Given the description of an element on the screen output the (x, y) to click on. 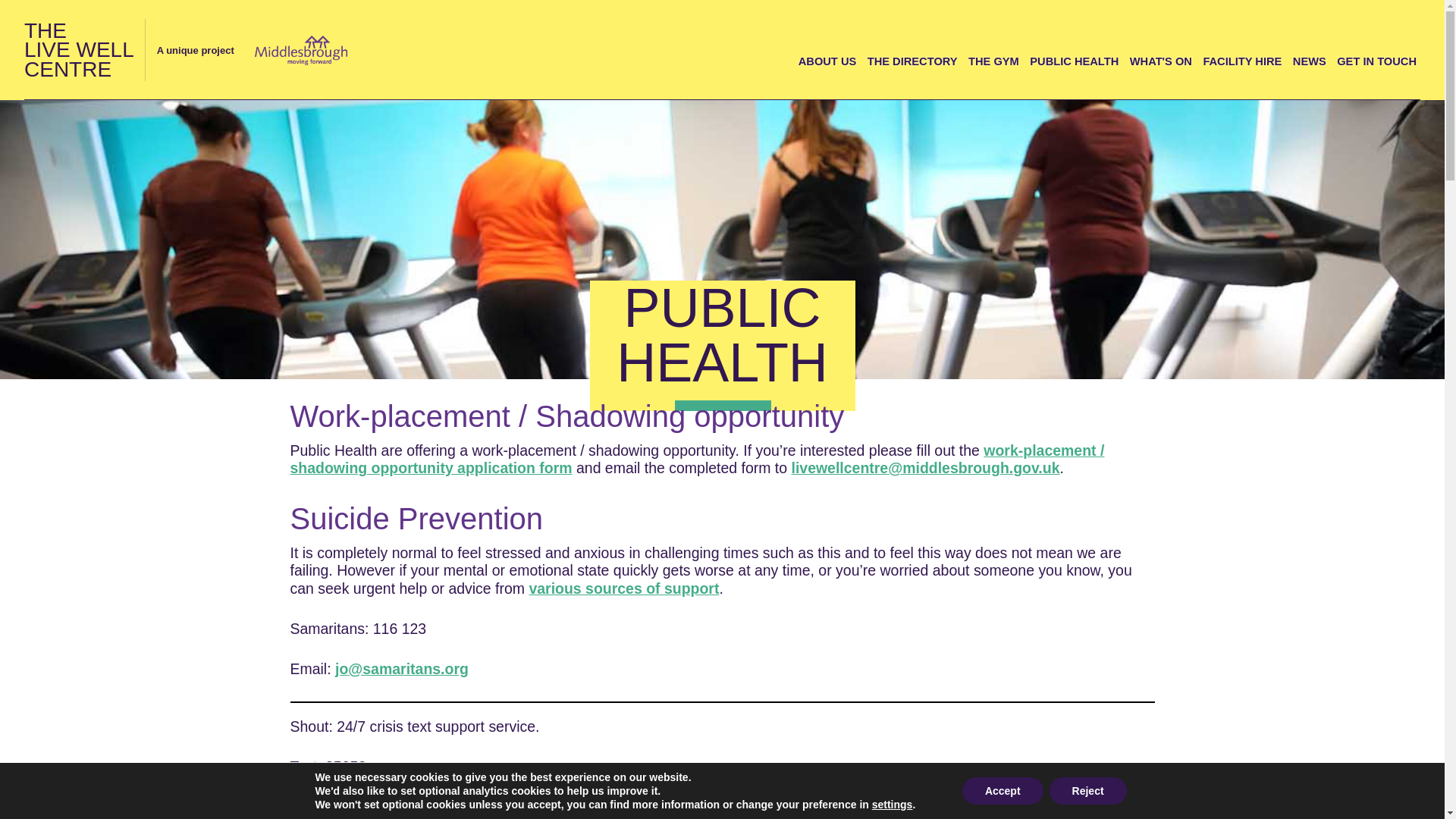
Accept (1002, 790)
WHAT'S ON (1160, 61)
settings (892, 804)
NEWS (1309, 61)
ABOUT US (827, 61)
PUBLIC HEALTH (1073, 61)
various sources of support (623, 587)
THE DIRECTORY (912, 61)
FACILITY HIRE (78, 49)
